Given the description of an element on the screen output the (x, y) to click on. 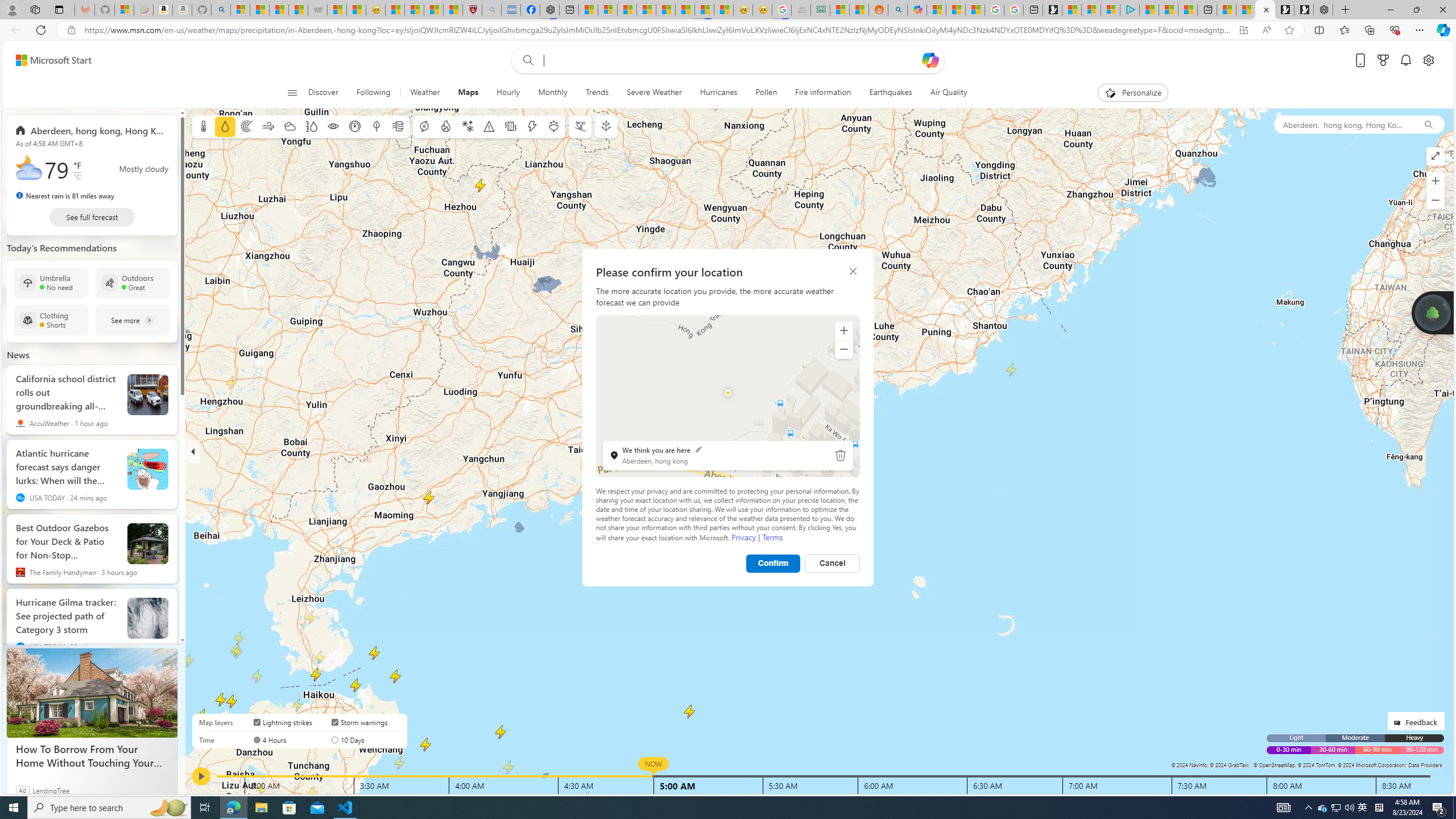
12 Popular Science Lies that Must be Corrected (452, 9)
AccuWeather (20, 422)
Web search (526, 60)
Robert H. Shmerling, MD - Harvard Health (471, 9)
Notifications (1405, 60)
Fire information (823, 92)
Microsoft-Report a Concern to Bing (123, 9)
Nordace - Nordace Siena Is Not An Ordinary Backpack (1323, 9)
Workspaces (34, 9)
Open settings (1427, 60)
Open Copilot (930, 59)
Severe Weather (653, 92)
